Given the description of an element on the screen output the (x, y) to click on. 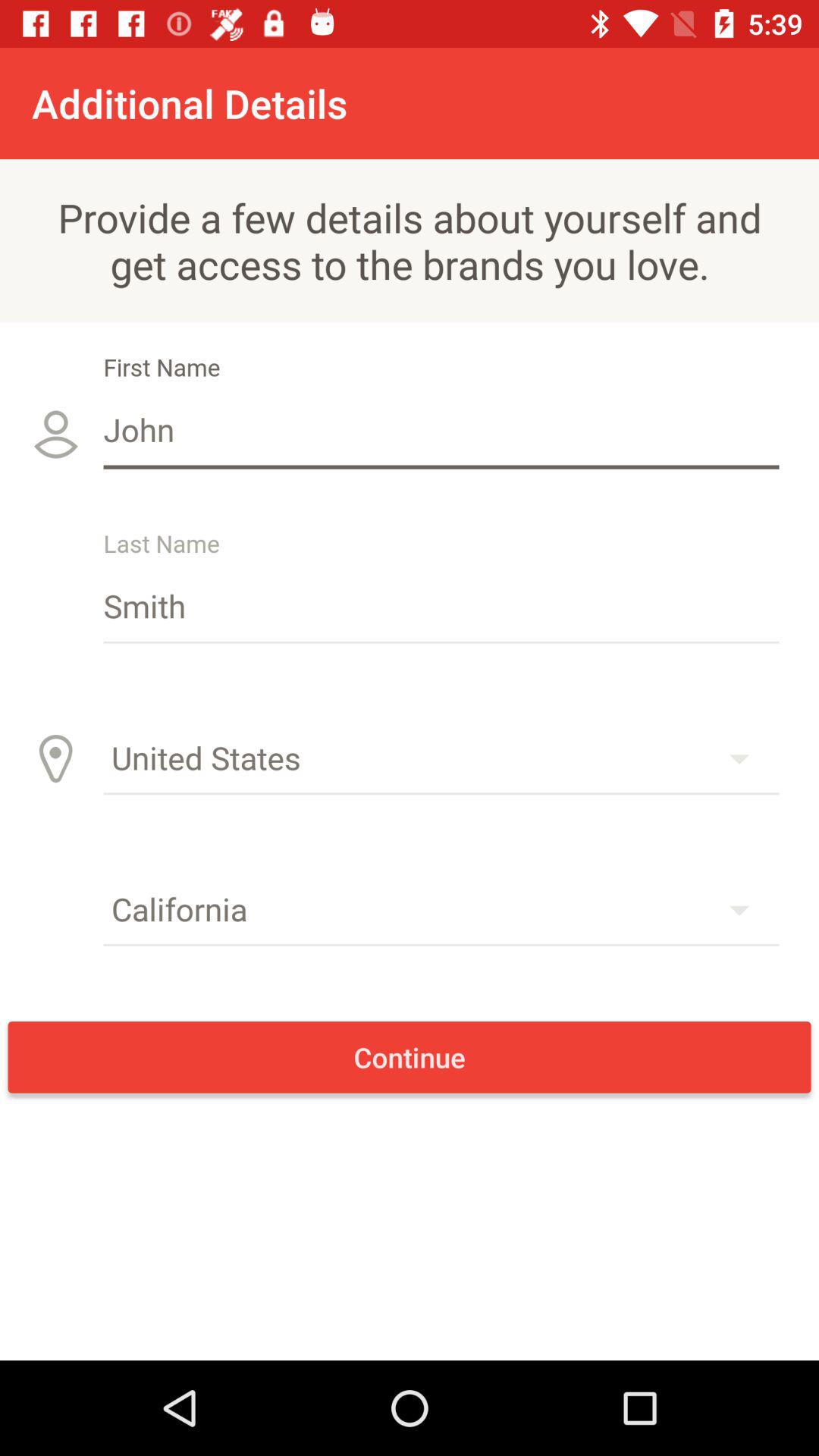
tap the item below provide a few item (441, 428)
